Given the description of an element on the screen output the (x, y) to click on. 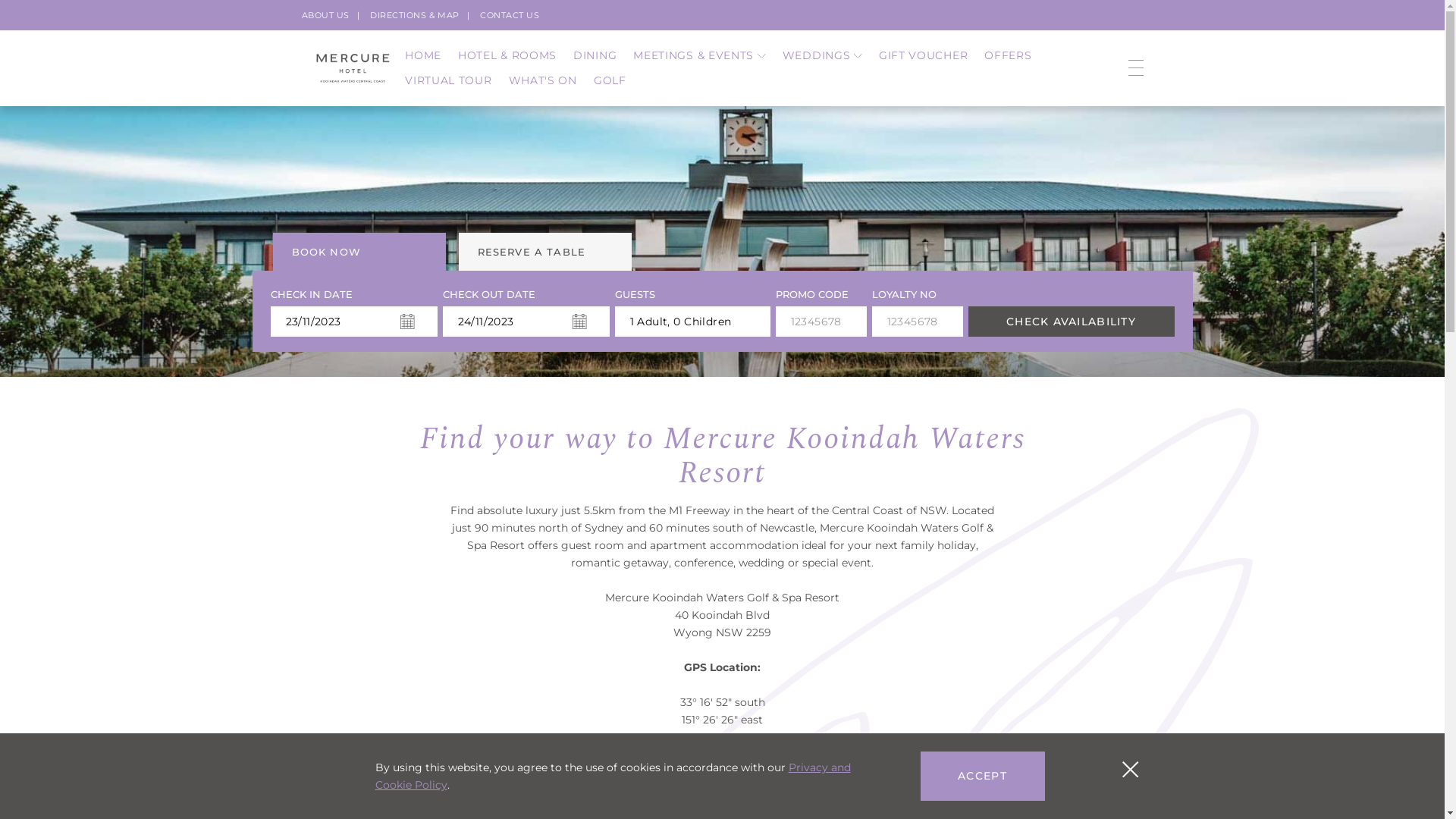
DINING Element type: text (594, 55)
HOTEL & ROOMS Element type: text (507, 55)
DIRECTIONS & MAP Element type: text (414, 14)
GOLF Element type: text (609, 80)
BOOK NOW Element type: text (359, 251)
VIRTUAL TOUR Element type: text (447, 80)
GIFT VOUCHER Element type: text (922, 55)
WHAT'S ON Element type: text (542, 80)
HOME Element type: text (422, 55)
RESERVE A TABLE Element type: text (544, 251)
CONTACT US Element type: text (509, 14)
WEDDINGS Element type: text (822, 55)
ACCEPT Element type: text (982, 775)
1 Adult, 0 Children Element type: text (691, 321)
CHECK AVAILABILITY Element type: text (1070, 321)
MEETINGS & EVENTS Element type: text (699, 55)
ABOUT US Element type: text (325, 14)
Privacy and Cookie Policy Element type: text (612, 775)
OFFERS Element type: text (1007, 55)
